Given the description of an element on the screen output the (x, y) to click on. 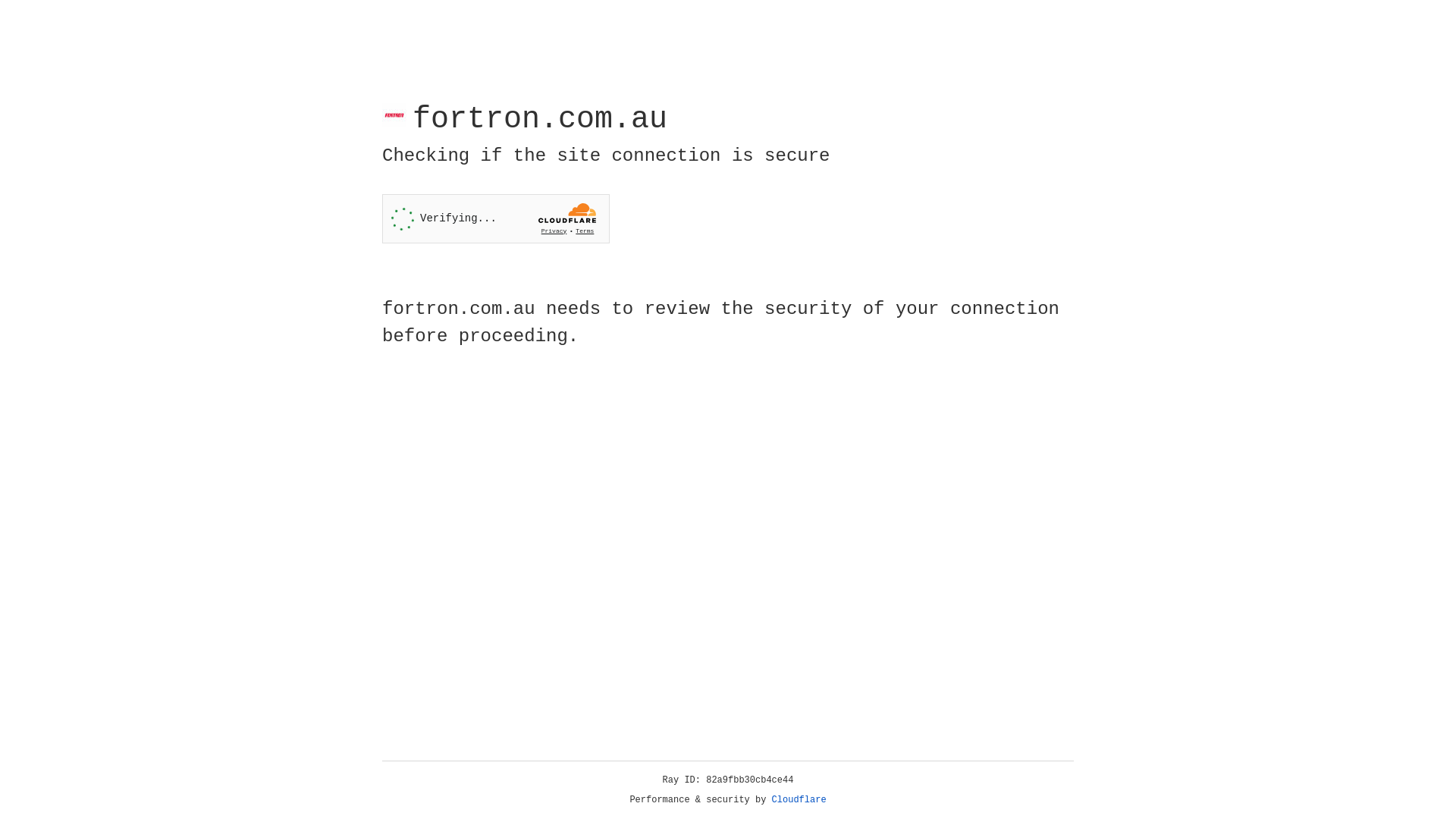
Cloudflare Element type: text (798, 799)
Widget containing a Cloudflare security challenge Element type: hover (495, 218)
